Given the description of an element on the screen output the (x, y) to click on. 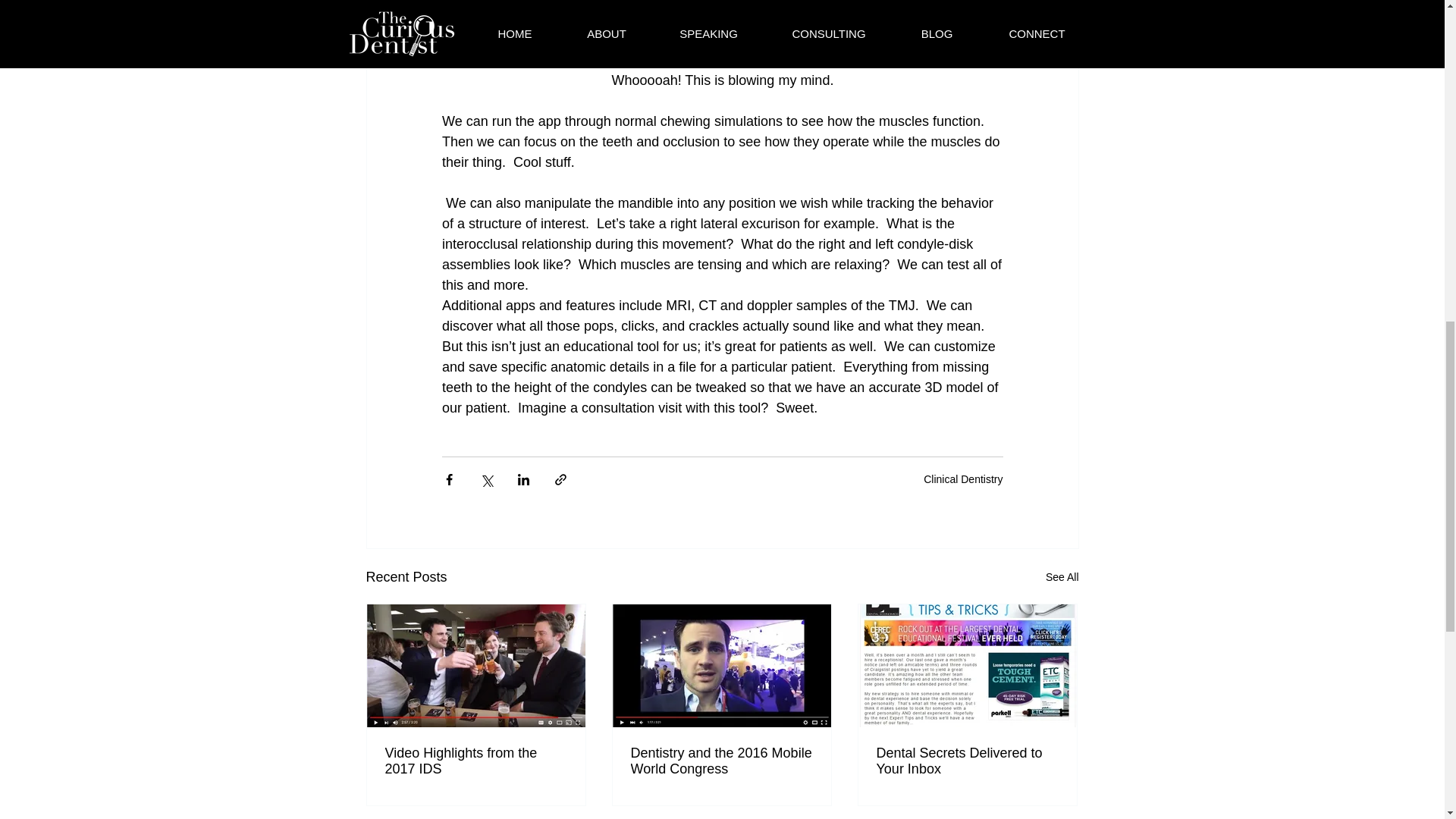
Video Highlights from the 2017 IDS (476, 760)
Dental Secrets Delivered to Your Inbox (967, 760)
See All (1061, 576)
Dentistry and the 2016 Mobile World Congress (721, 760)
Clinical Dentistry (963, 479)
